Given the description of an element on the screen output the (x, y) to click on. 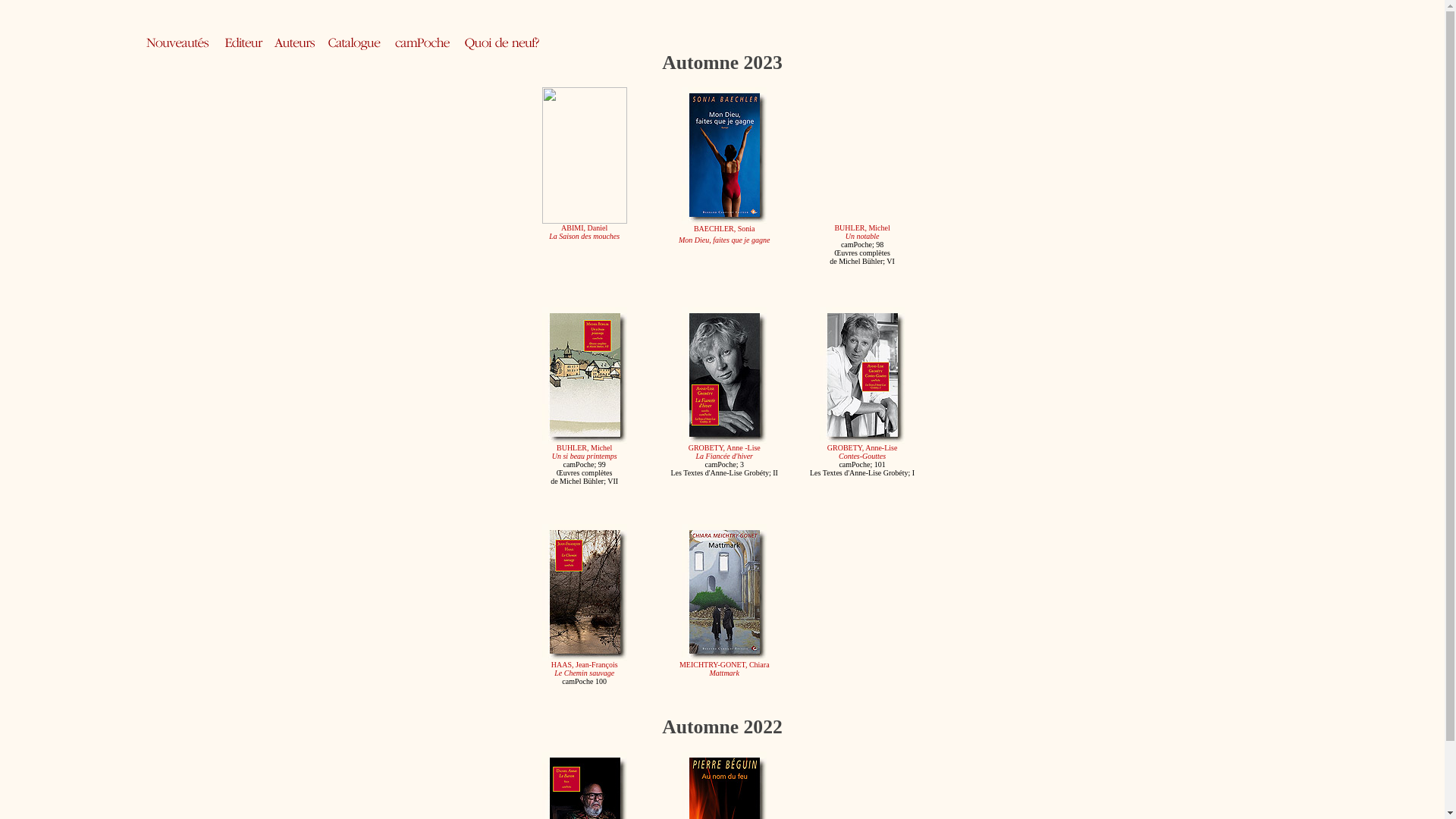
GROBETY, Anne -Lise Element type: text (724, 445)
GROBETY, Anne-Lise Element type: text (862, 447)
ABIMI, Daniel Element type: text (584, 227)
Le Chemin sauvage Element type: text (584, 671)
Contes-Gouttes Element type: text (861, 455)
BAECHLER, Sonia Element type: text (724, 228)
Mattmark Element type: text (724, 672)
../../images/vignettes_couverture/Beau_a_vomir_vignette.jpg Element type: hover (723, 375)
MEICHTRY-GONET, Chiara Element type: text (724, 664)
La Saison des mouches Element type: text (584, 236)
Un si beau printemps Element type: text (584, 455)
Mon Dieu, faites que je gagne Element type: text (724, 239)
BUHLER, Michel Element type: text (861, 227)
Un notable Element type: text (862, 236)
BUHLER, Michel Element type: text (583, 447)
